Given the description of an element on the screen output the (x, y) to click on. 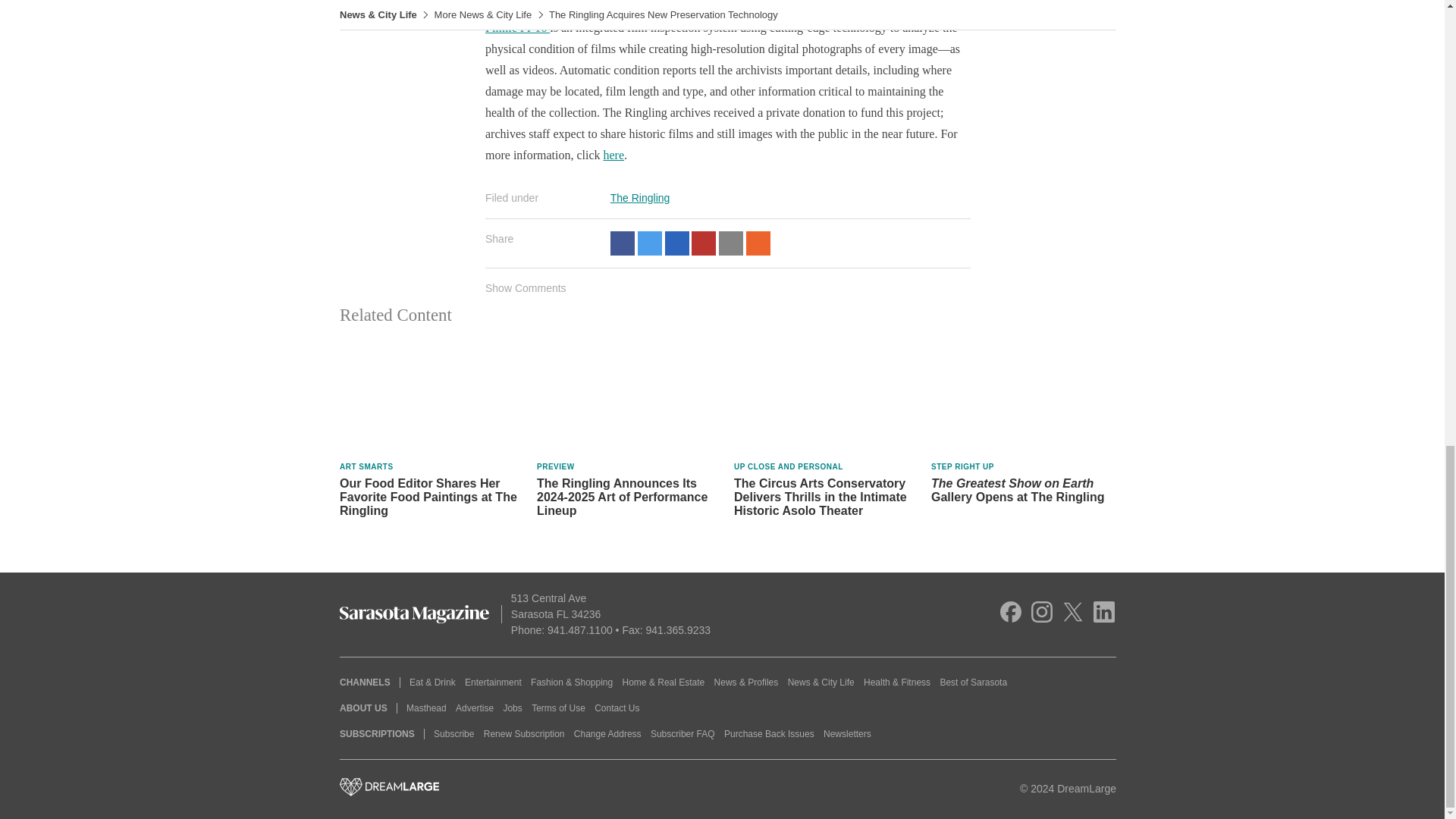
Share on LinkedIn (675, 242)
Share on Facebook (622, 242)
Share via Email (730, 242)
Share on Pinterest (703, 242)
Share on Twitter (649, 242)
Share on Reddit (757, 242)
